Given the description of an element on the screen output the (x, y) to click on. 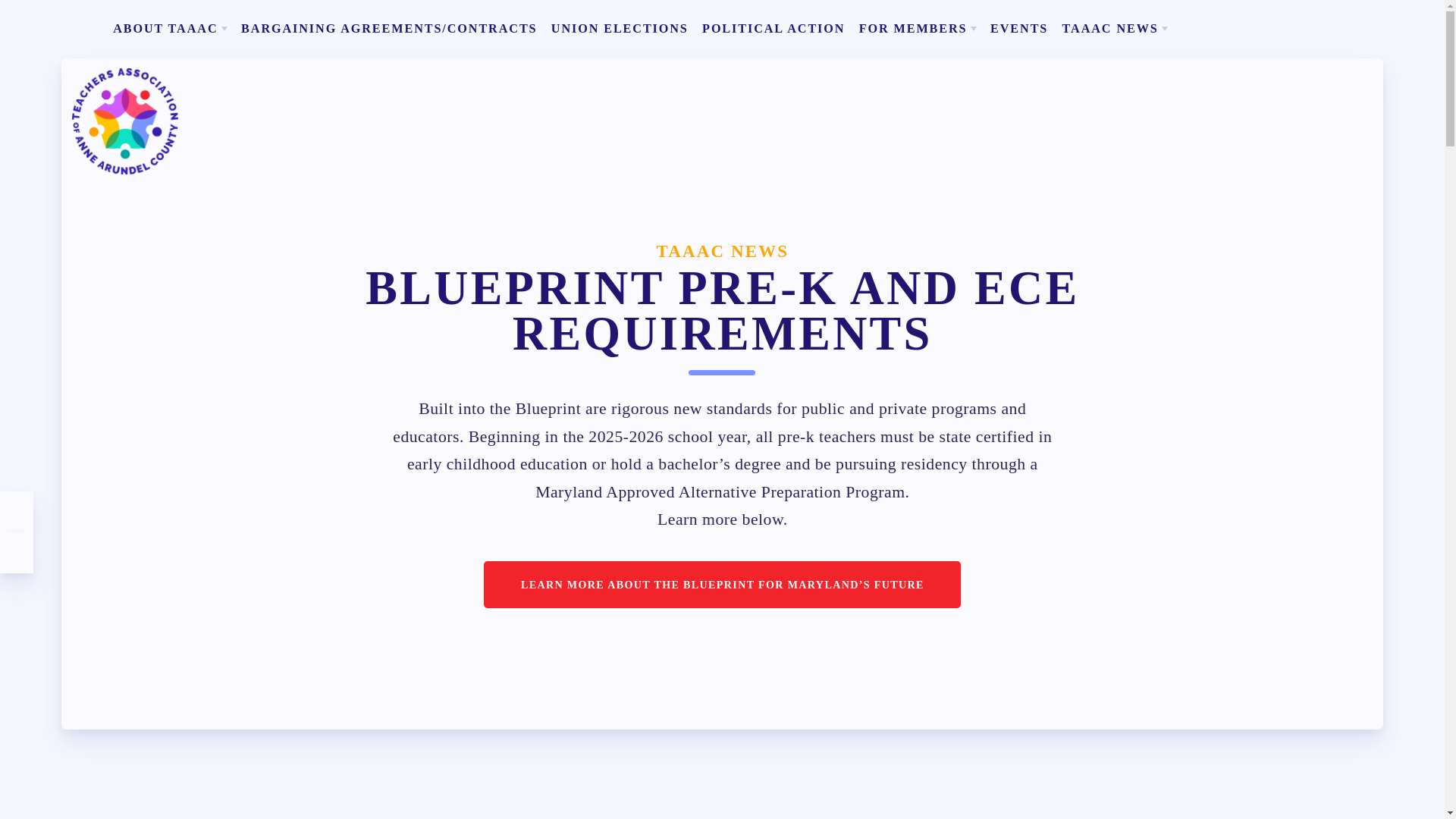
UNION ELECTIONS (619, 28)
ABOUT TAAAC (170, 28)
TAAAC NEWS (1115, 28)
EVENTS (1019, 28)
FOR MEMBERS (916, 28)
POLITICAL ACTION (773, 28)
